Given the description of an element on the screen output the (x, y) to click on. 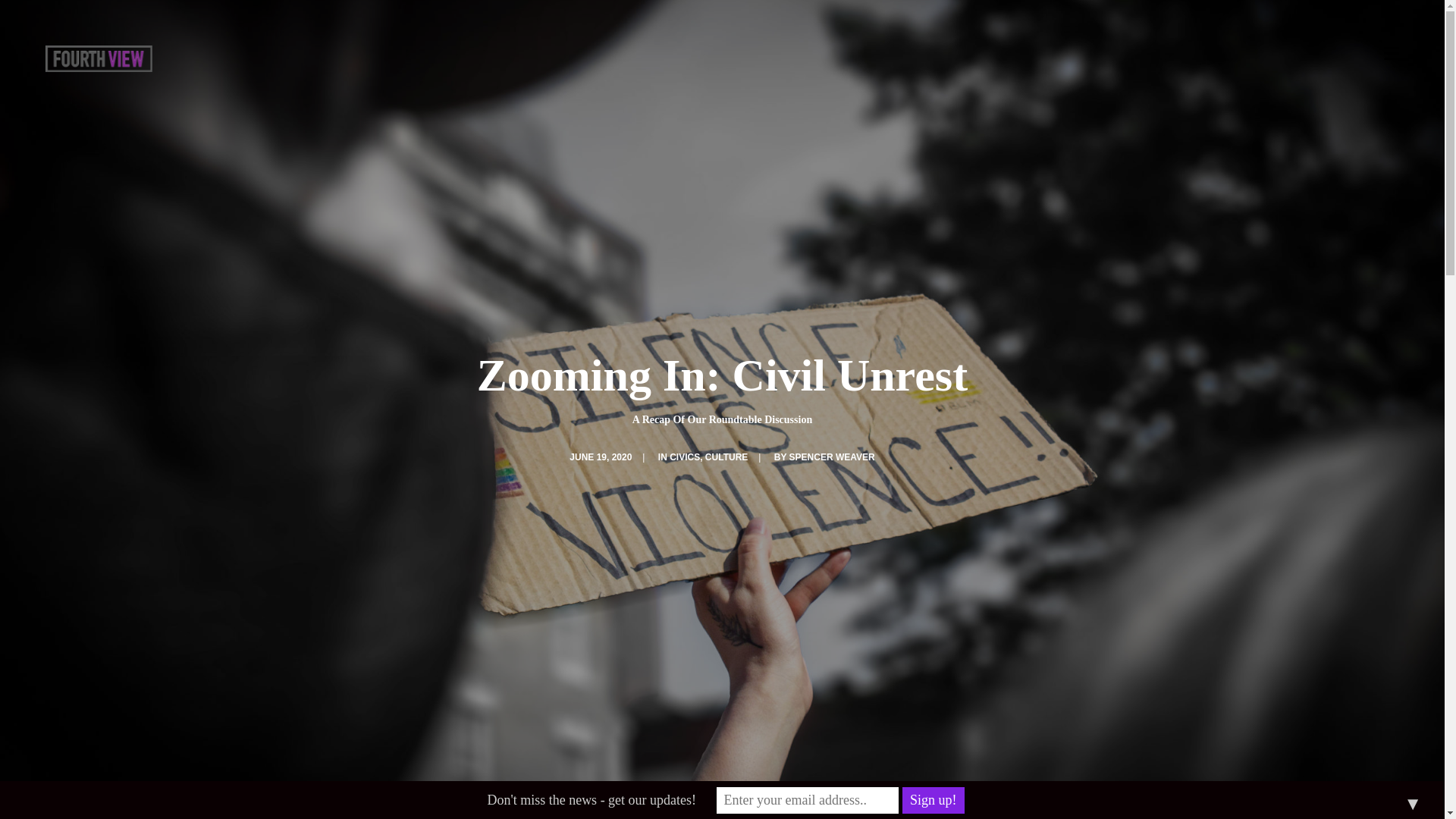
Civics (581, 544)
Culture (584, 560)
CIVICS (684, 457)
Markets (586, 590)
Sign up! (932, 800)
Science (585, 575)
SPENCER WEAVER (832, 457)
CULTURE (726, 457)
